Given the description of an element on the screen output the (x, y) to click on. 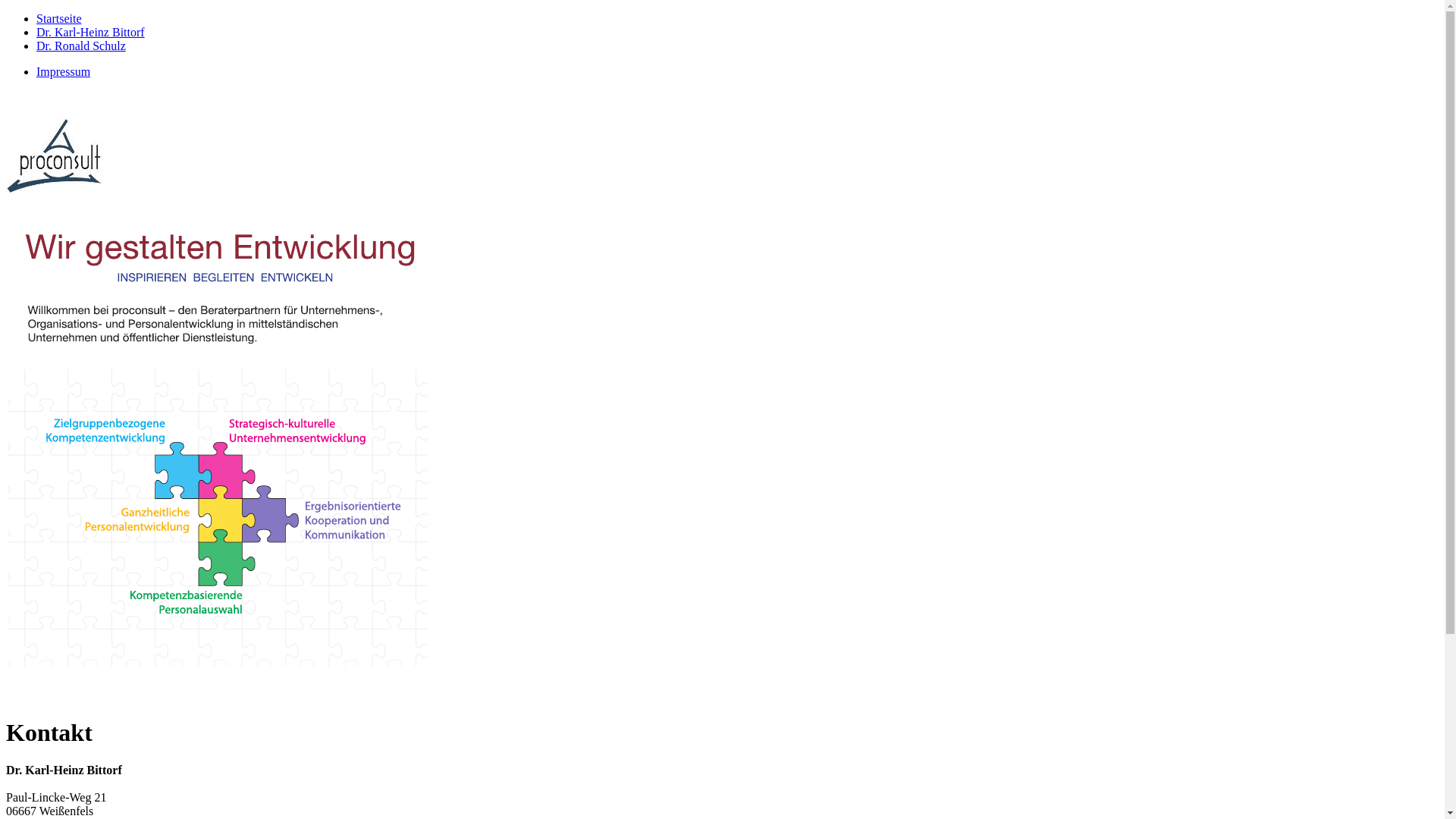
Impressum Element type: text (63, 71)
Dr. Ronald Schulz Element type: text (80, 45)
Dr. Karl-Heinz Bittorf Element type: text (90, 31)
Startseite Element type: text (58, 18)
